Given the description of an element on the screen output the (x, y) to click on. 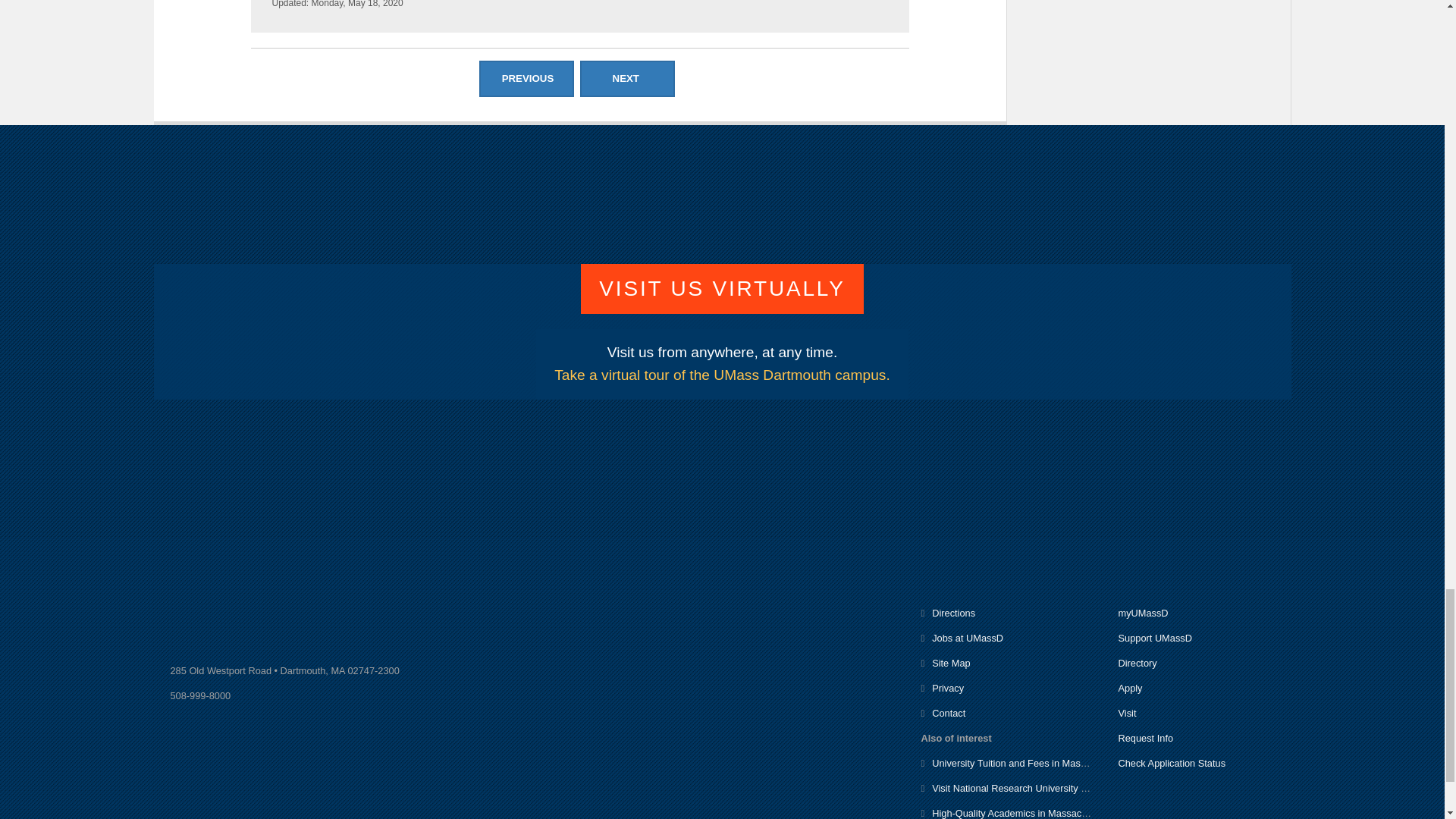
2011 Social Media Top Charities (630, 78)
2020 BayCoast Bank White Paper Series (529, 78)
Previous story (526, 78)
Next story (627, 78)
